Given the description of an element on the screen output the (x, y) to click on. 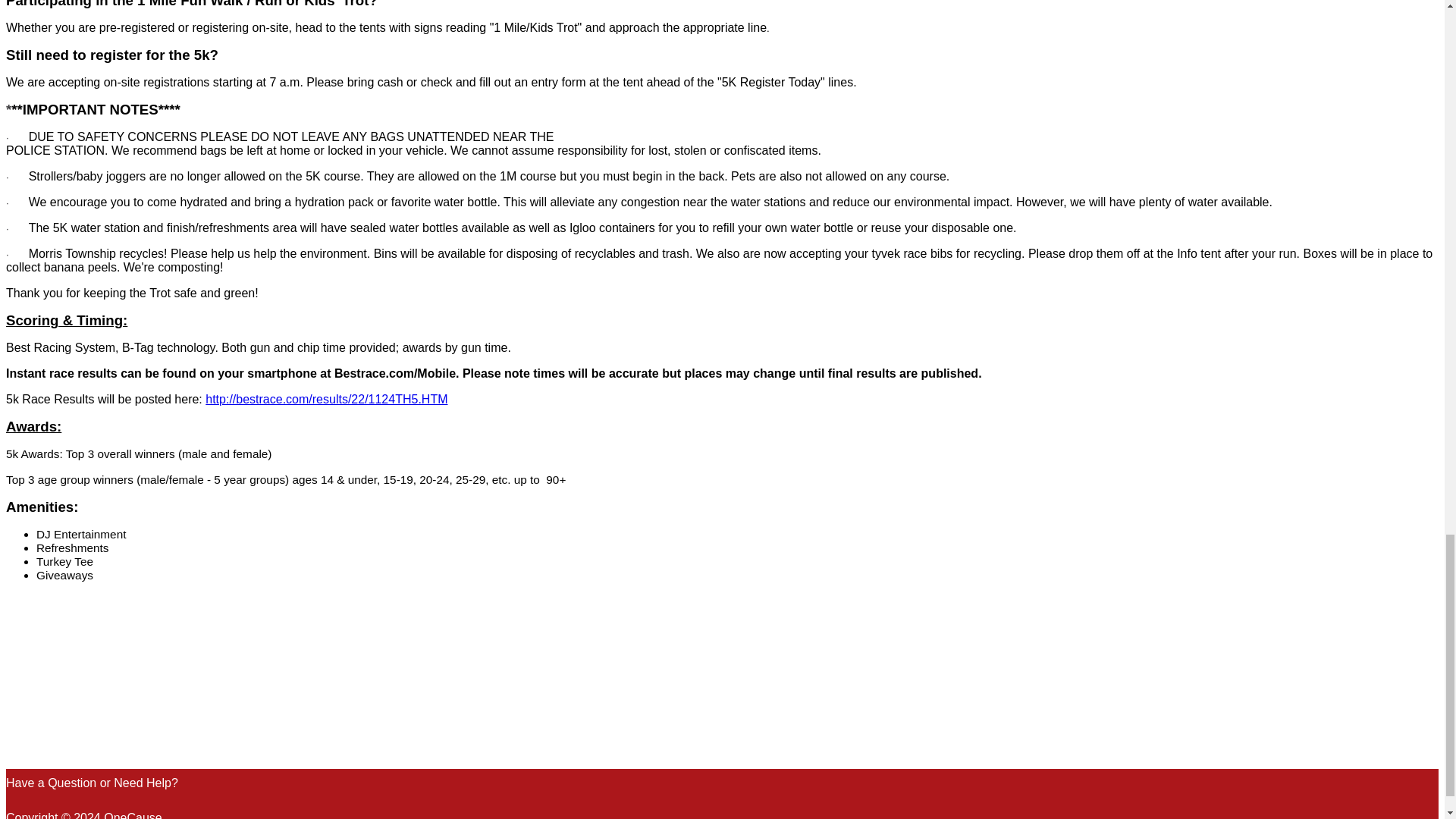
Have a Question or Need Help? (91, 782)
